Given the description of an element on the screen output the (x, y) to click on. 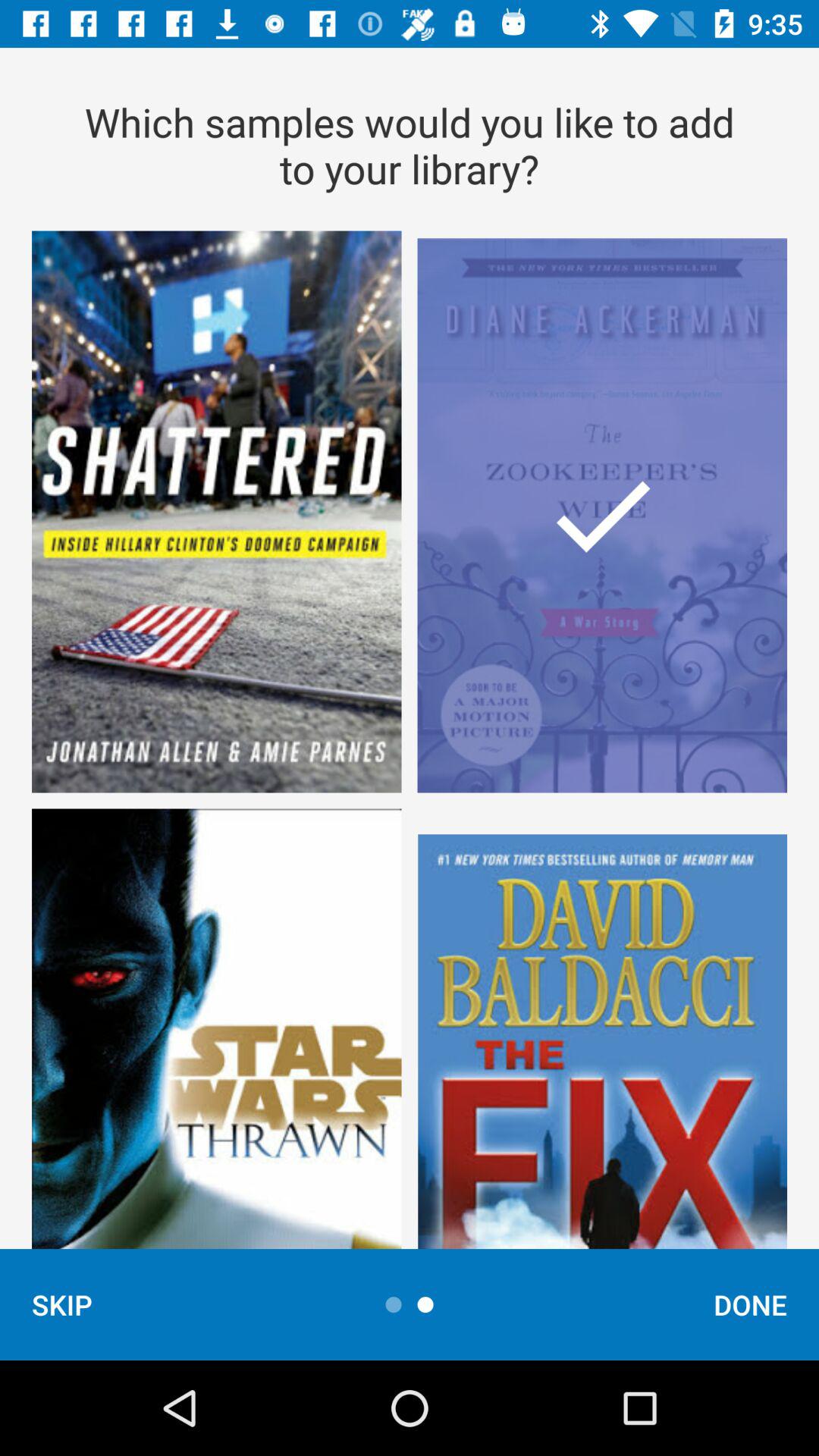
tap the skip (61, 1304)
